Given the description of an element on the screen output the (x, y) to click on. 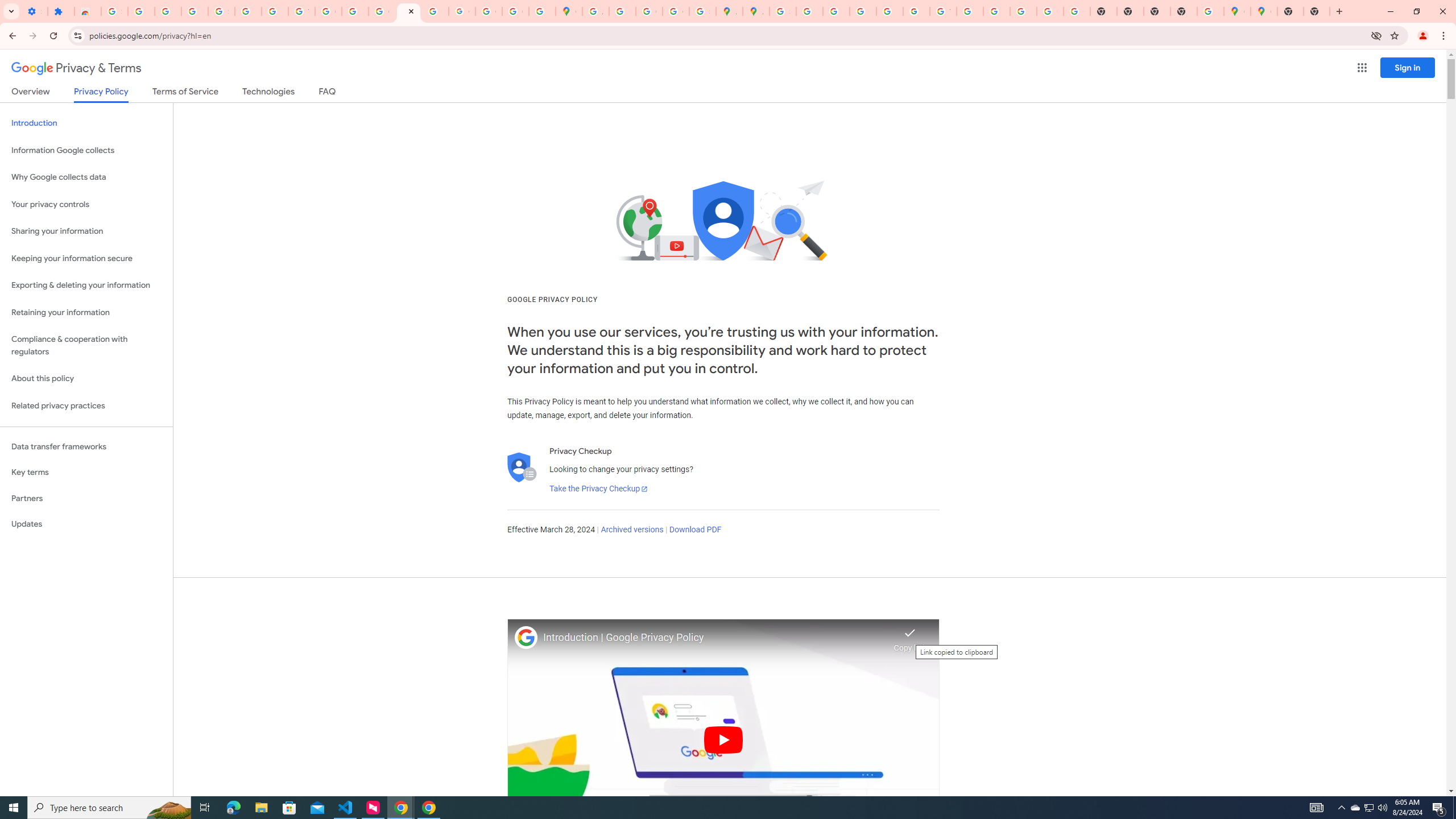
Data transfer frameworks (86, 446)
Play (723, 739)
Take the Privacy Checkup (597, 488)
Safety in Our Products - Google Safety Center (702, 11)
Settings - On startup (34, 11)
